Given the description of an element on the screen output the (x, y) to click on. 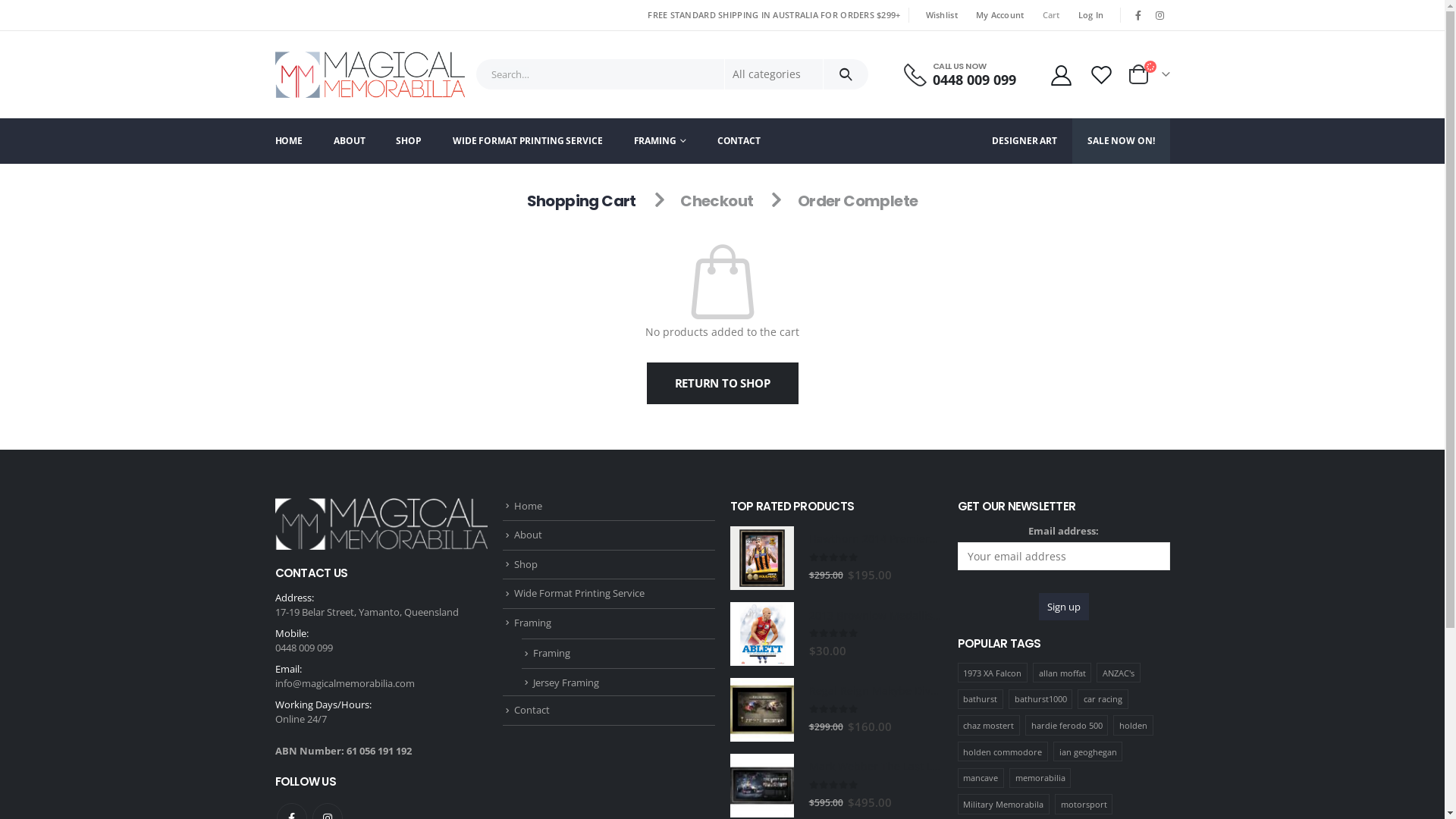
RETURN TO SHOP Element type: text (721, 383)
memorabilia Element type: text (1039, 777)
car racing Element type: text (1102, 699)
About Element type: text (528, 534)
2013 Brownlow Medallist Sportsprint Gary Ablett unframed Element type: hover (761, 633)
SALE NOW ON! Element type: text (1121, 140)
Military Memorabila Element type: text (1002, 803)
ABOUT Element type: text (348, 140)
Facebook Element type: hover (1138, 15)
holden Element type: text (1132, 724)
Shopping Cart Element type: text (581, 200)
Mark Webber The Last Lap Element type: text (874, 766)
Checkout Element type: text (716, 200)
Wishlist Element type: hover (1101, 74)
Order Complete Element type: text (857, 200)
Jersey Framing Element type: text (565, 682)
Search Element type: hover (845, 74)
HOME Element type: text (295, 140)
Framing Element type: text (550, 652)
motorsport Element type: text (1083, 803)
mancave Element type: text (980, 777)
My Account Element type: hover (1061, 74)
Hawthorn 2014 Premiers Herograph - Jarryd Roughead Element type: text (874, 538)
Contact Element type: text (531, 709)
Wide Format Printing Service Element type: text (579, 592)
Framing Element type: text (532, 622)
hardie ferodo 500 Element type: text (1066, 724)
ANZAC's Element type: text (1117, 672)
FRAMING Element type: text (659, 140)
allan moffat Element type: text (1061, 672)
Shop Element type: text (525, 564)
DESIGNER ART Element type: text (1024, 140)
Sign up Element type: text (1063, 606)
chaz mostert Element type: text (988, 724)
info@magicalmemorabilia.com Element type: text (344, 683)
bathurst Element type: text (979, 699)
My Account Element type: text (999, 15)
holden commodore Element type: text (1002, 751)
CONTACT Element type: text (738, 140)
Instagram Element type: hover (1160, 15)
bathurst1000 Element type: text (1040, 699)
WIDE FORMAT PRINTING SERVICE Element type: text (527, 140)
Wishlist Element type: text (941, 15)
Cart Element type: text (1051, 15)
SHOP Element type: text (408, 140)
Log In Element type: text (1091, 15)
Sports Memorabilia - Custom Framing & Memorabilia Brisbane Element type: hover (369, 74)
1973 XA Falcon Element type: text (991, 672)
ian geoghegan Element type: text (1087, 751)
2013 Brownlow Medallist Sportsprint Gary Ablett unframed Element type: text (874, 615)
Home Element type: text (528, 505)
Mark Webber The Last Lap Element type: hover (761, 785)
Hawthorn 2014 Premiers Herograph - Jarryd Roughead Element type: hover (761, 557)
